Given the description of an element on the screen output the (x, y) to click on. 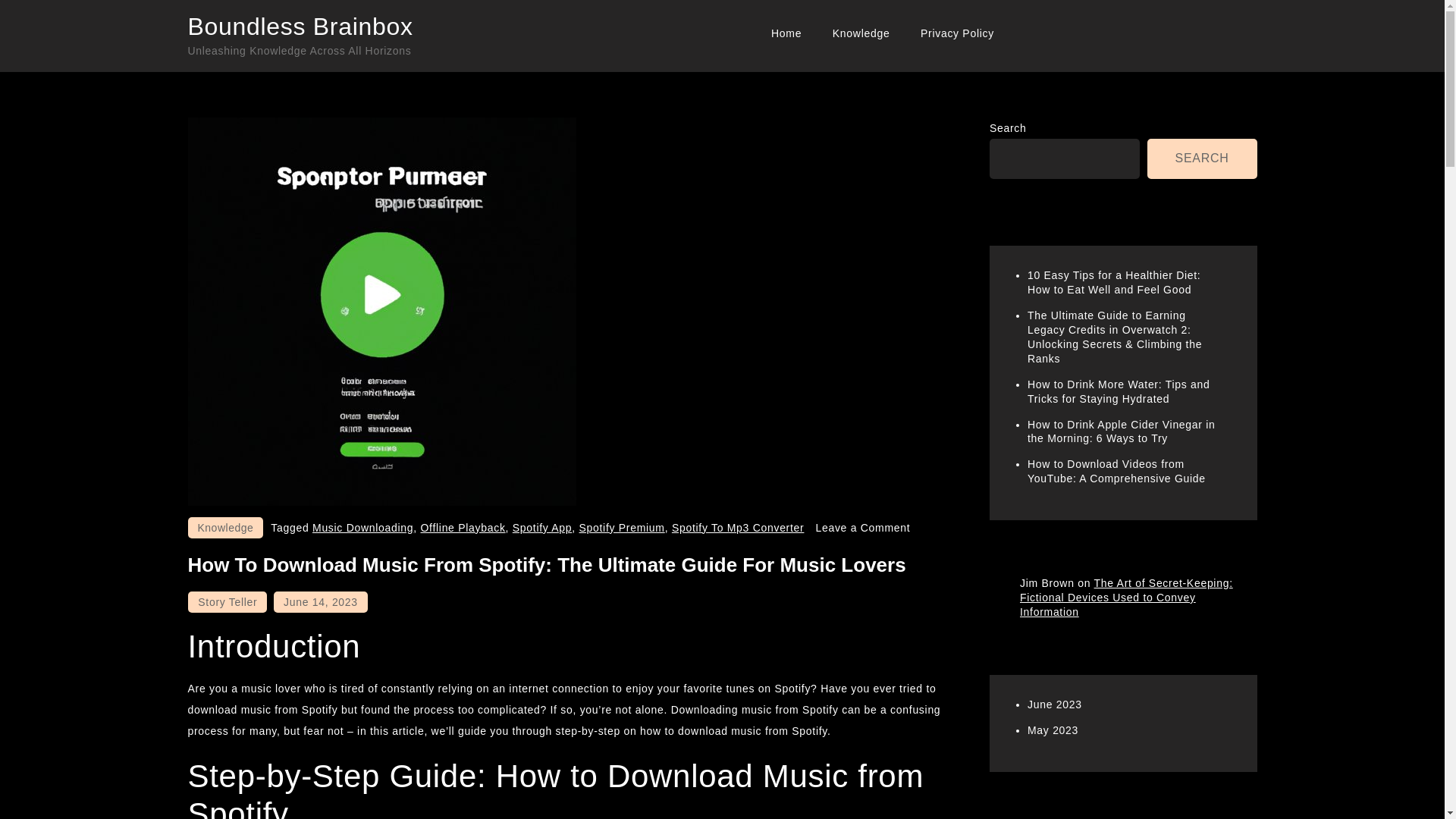
Knowledge (225, 527)
Knowledge (861, 33)
Home (786, 33)
June 2023 (1054, 704)
Spotify To Mp3 Converter (738, 527)
June 14, 2023 (320, 601)
May 2023 (1052, 729)
Spotify Premium (622, 527)
Boundless Brainbox (300, 26)
Story Teller (226, 601)
Privacy Policy (957, 33)
Offline Playback (462, 527)
